Given the description of an element on the screen output the (x, y) to click on. 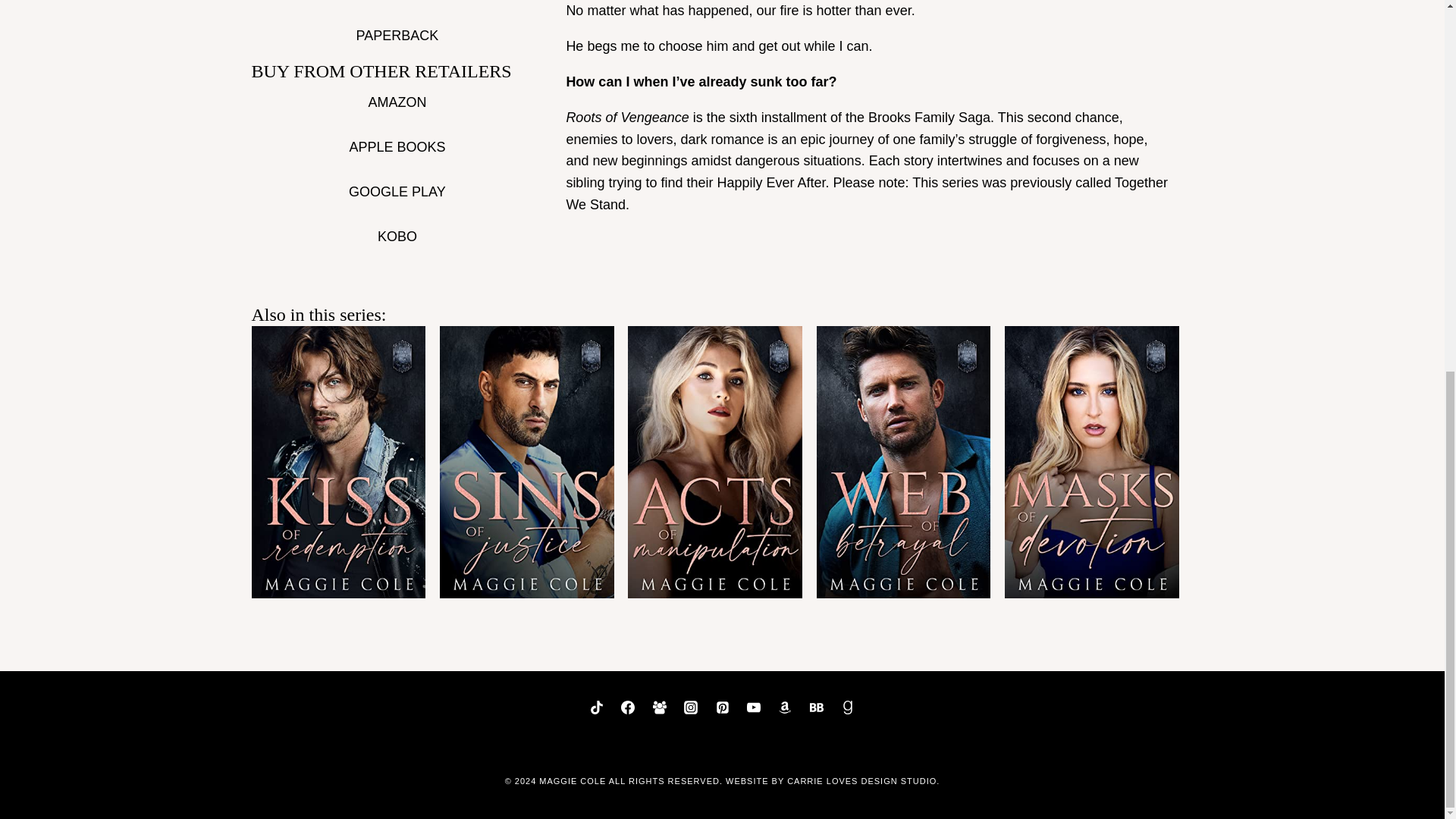
PAPERBACK (397, 35)
EBOOK (397, 5)
